Given the description of an element on the screen output the (x, y) to click on. 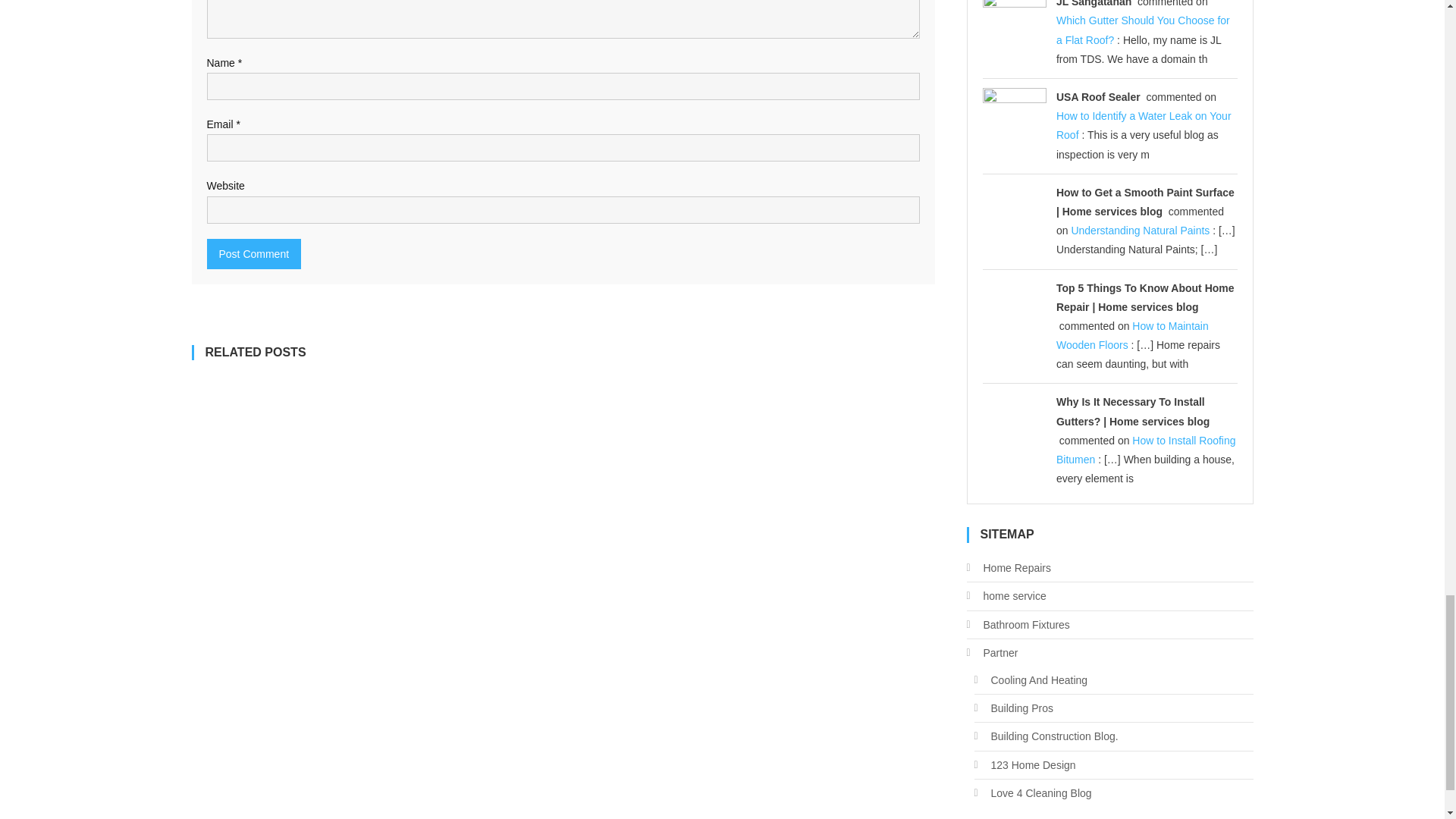
How to Maintain Wooden Floors (1132, 335)
Understanding Natural Paints (1139, 230)
Which Gutter Should You Choose for a Flat Roof? (1143, 29)
Post Comment (253, 254)
How to Identify a Water Leak on Your Roof (1144, 124)
How to Install Roofing Bitumen (1146, 450)
